Given the description of an element on the screen output the (x, y) to click on. 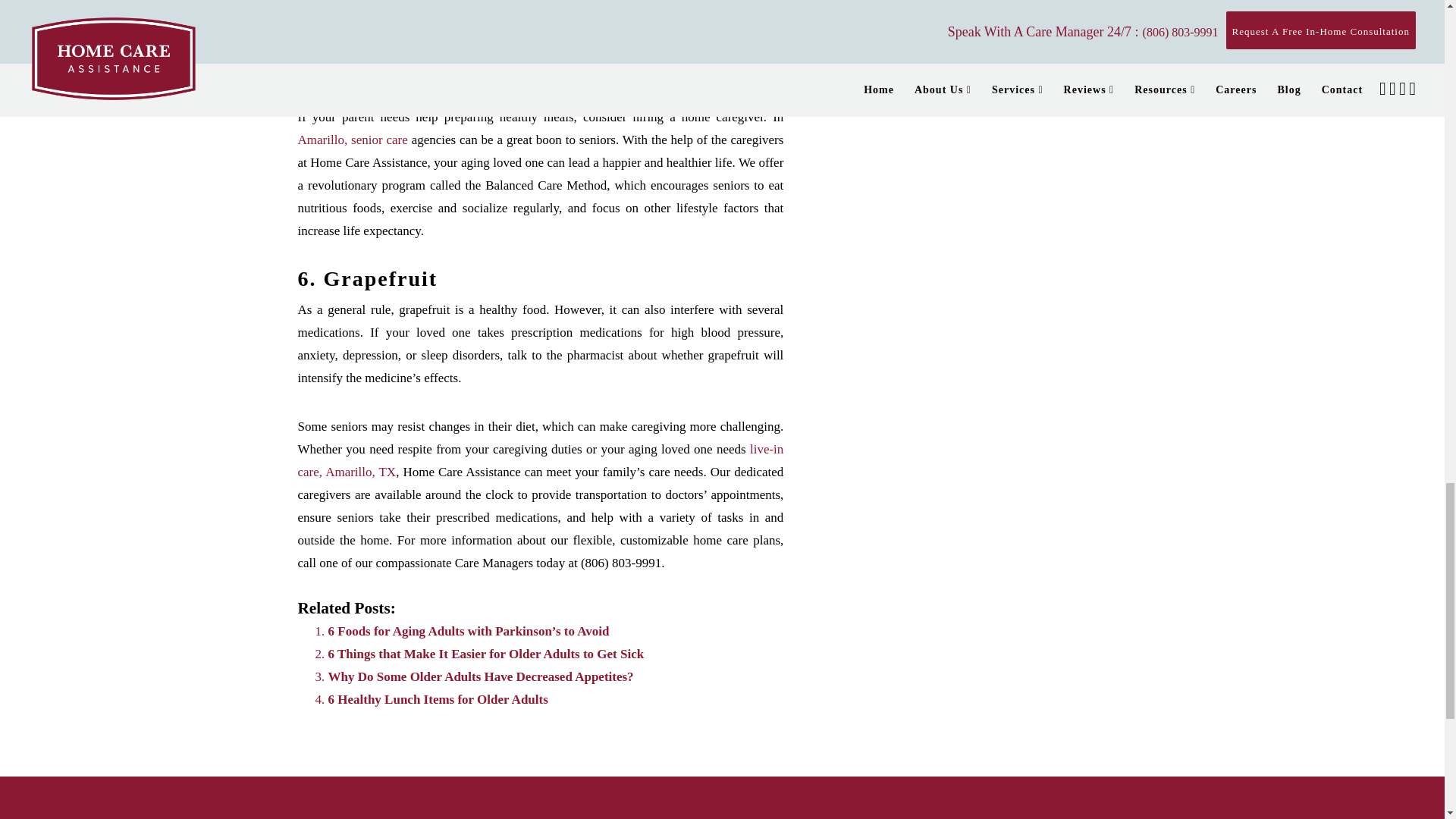
6 Things that Make It Easier for Older Adults to Get Sick (485, 653)
Why Do Some Older Adults Have Decreased Appetites? (480, 676)
6 Healthy Lunch Items for Older Adults (437, 699)
